Given the description of an element on the screen output the (x, y) to click on. 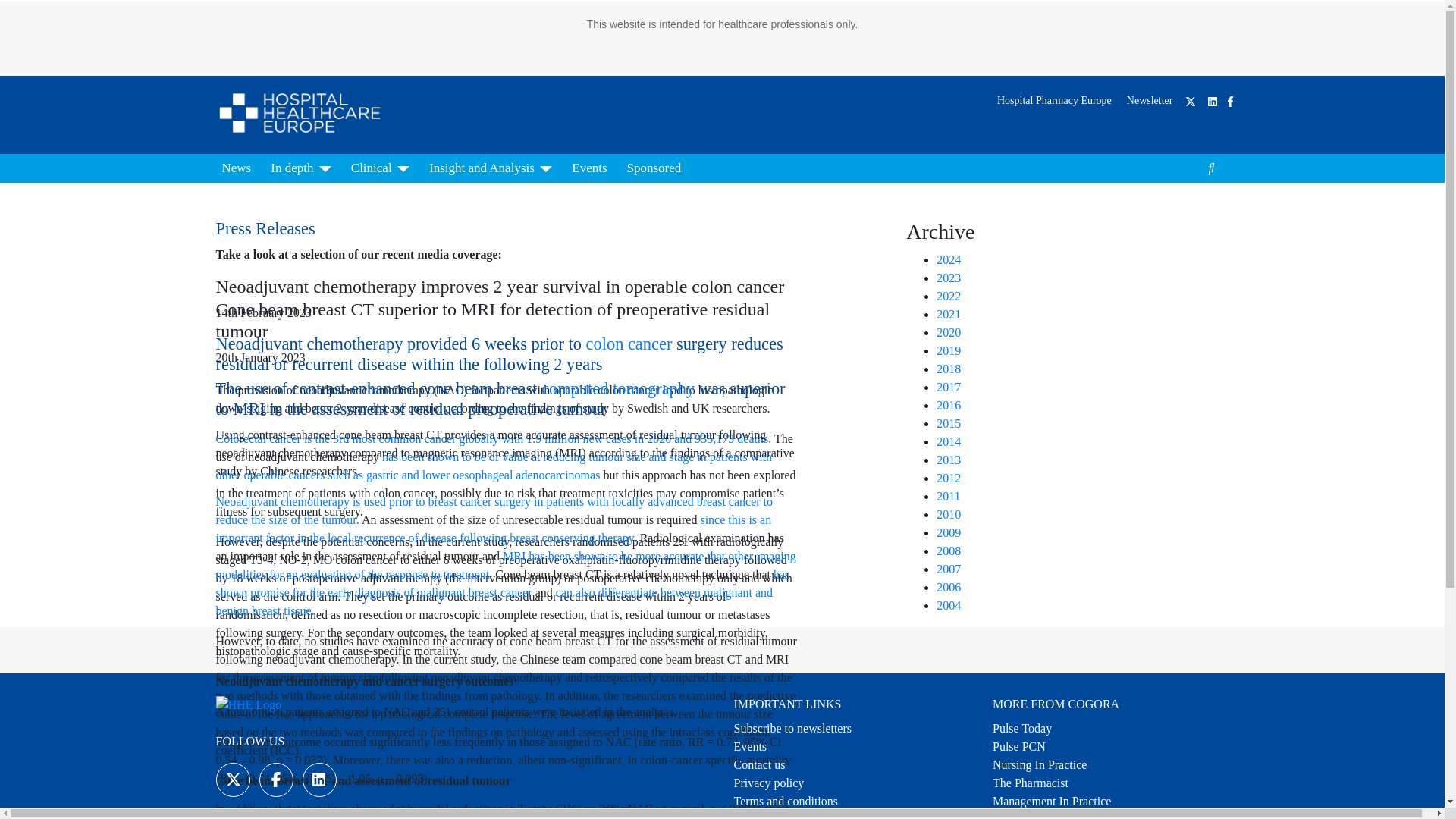
colon cancer (631, 343)
computed tomography (619, 388)
Newsletter (1149, 100)
Events (750, 746)
Clinical (379, 168)
Events (589, 168)
Privacy policy (769, 782)
Hospital Pharmacy Europe (1054, 100)
